Given the description of an element on the screen output the (x, y) to click on. 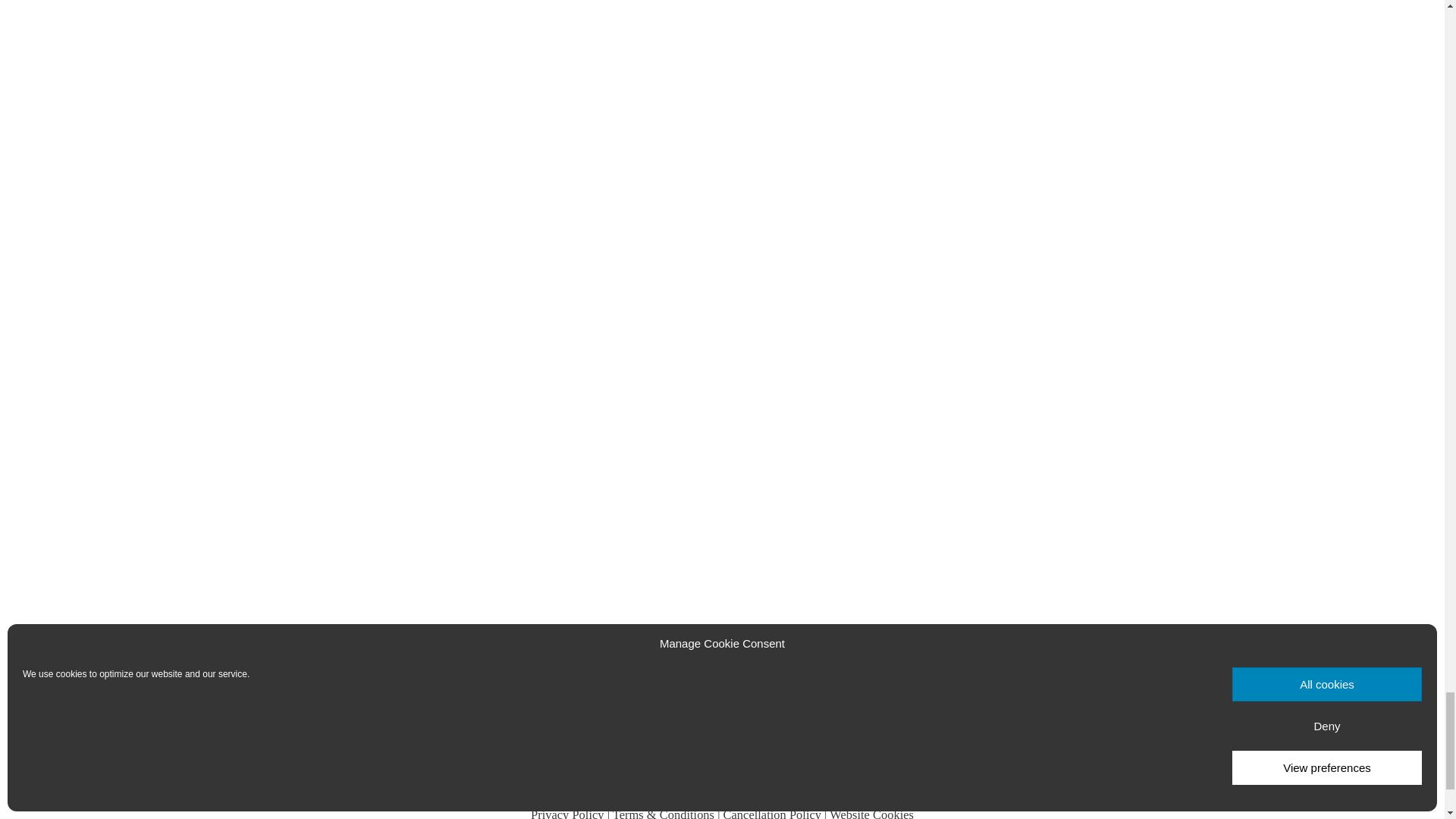
Contact Us (722, 776)
Cancellation Policy (772, 813)
Privacy Policy (567, 813)
Website Cookies (871, 813)
